Given the description of an element on the screen output the (x, y) to click on. 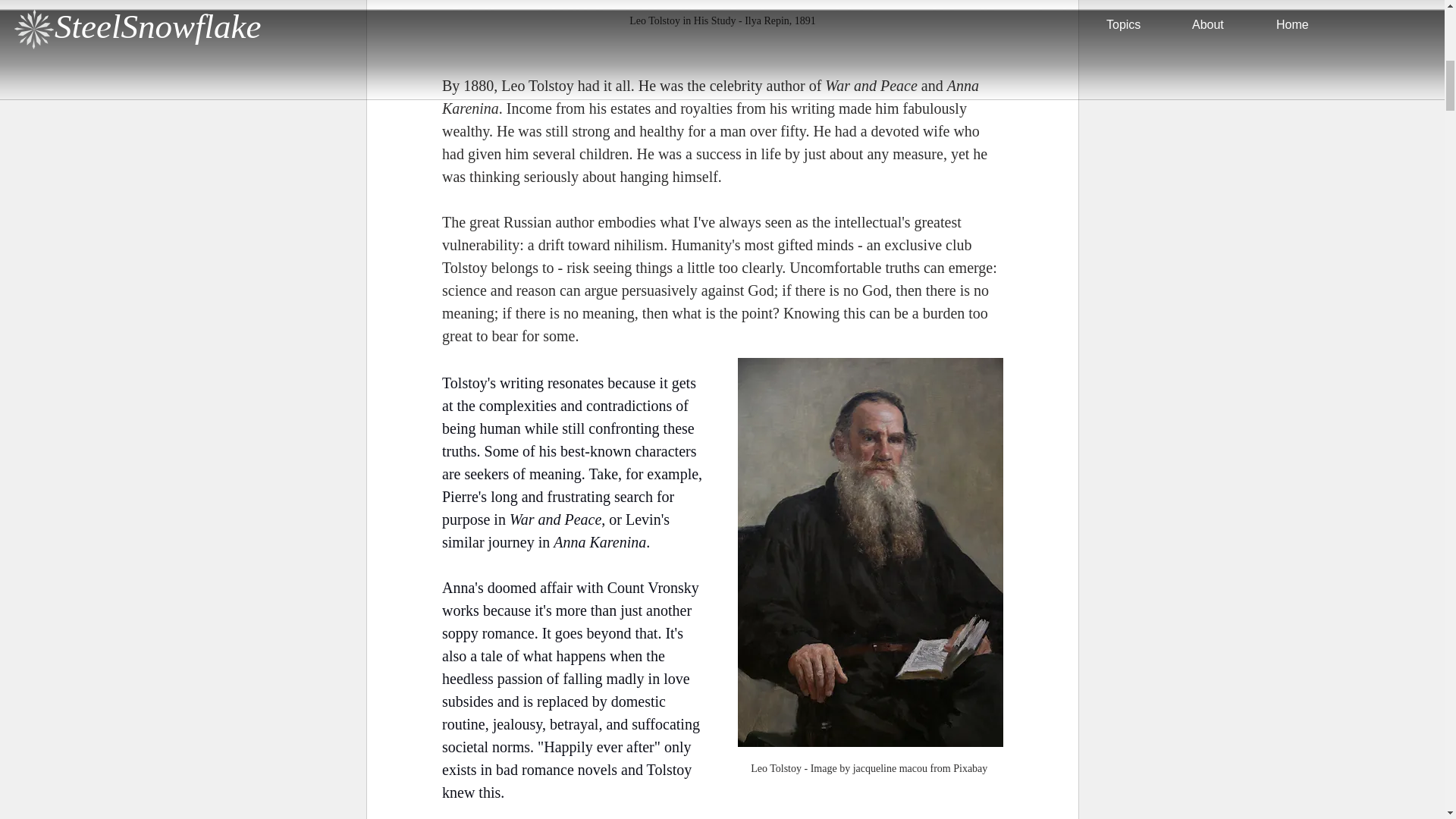
Leo Tolstoy in His Study - Ilya Repin, 1891 (722, 20)
